Given the description of an element on the screen output the (x, y) to click on. 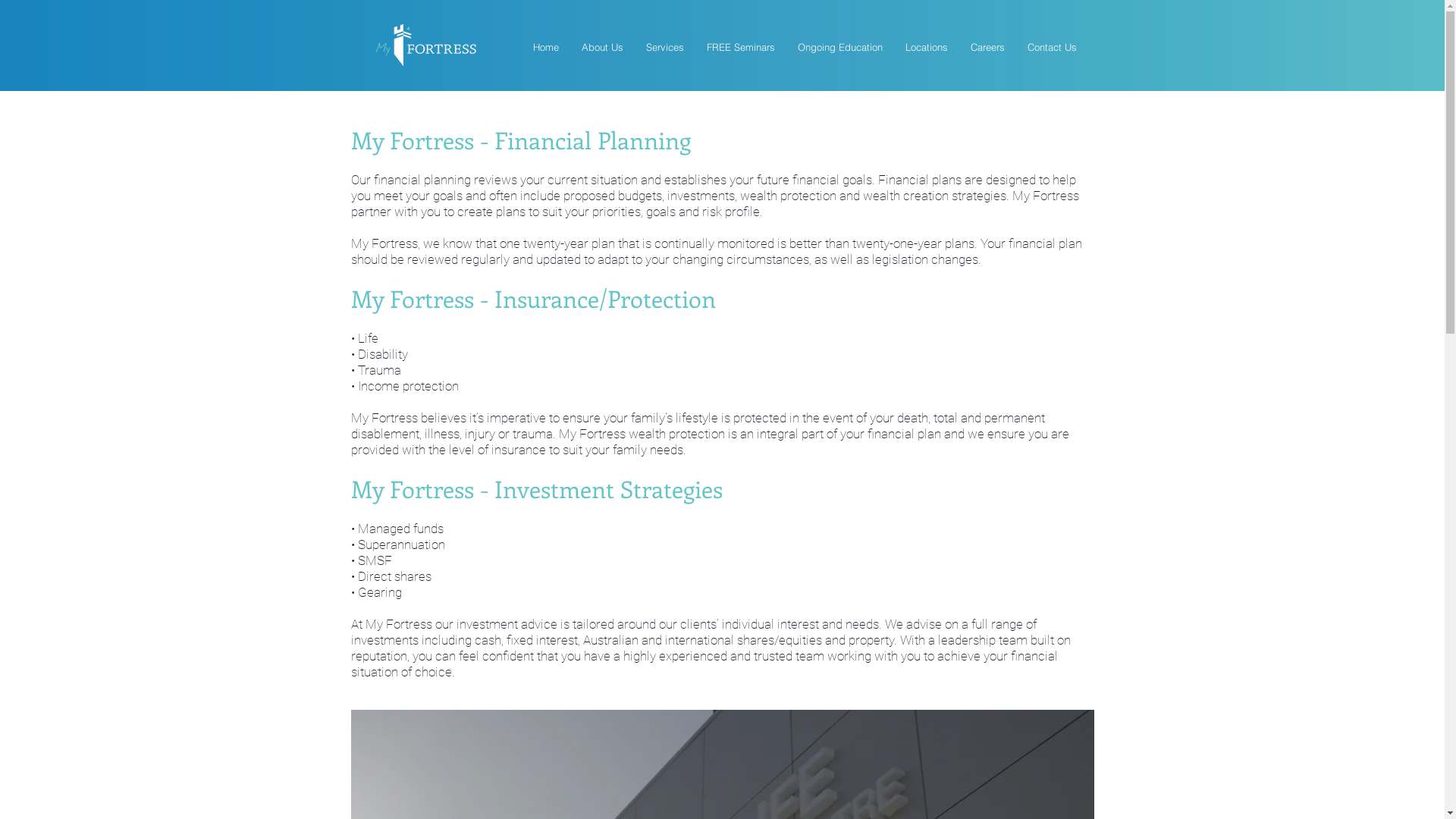
Home Element type: text (545, 46)
Contact Us Element type: text (1052, 46)
Careers Element type: text (986, 46)
Services Element type: text (663, 46)
Ongoing Education Element type: text (839, 46)
About Us Element type: text (602, 46)
Locations Element type: text (925, 46)
